Given the description of an element on the screen output the (x, y) to click on. 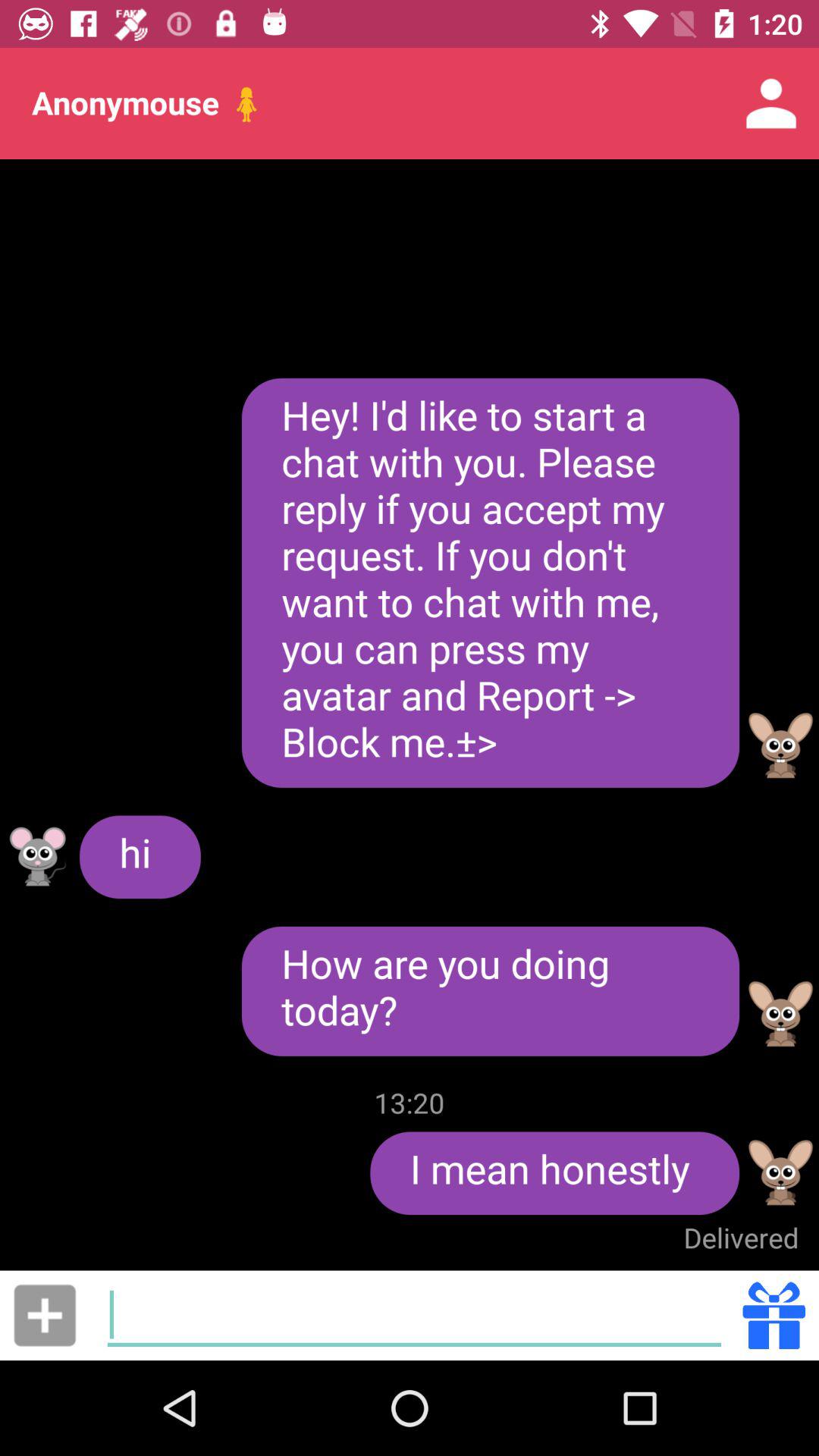
send a gift (774, 1315)
